Given the description of an element on the screen output the (x, y) to click on. 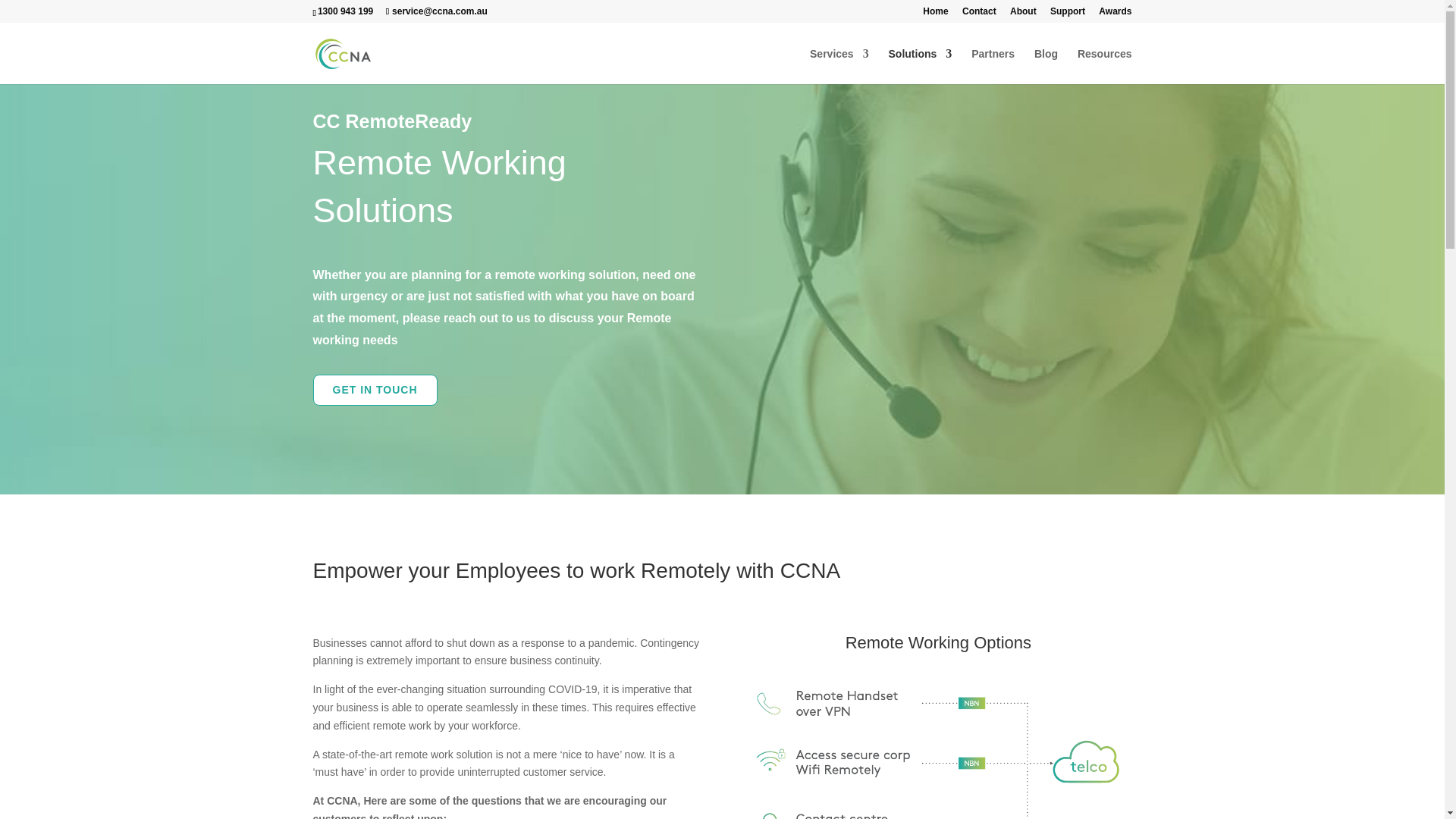
Awards (1115, 14)
Solutions (920, 66)
About (1023, 14)
Services (839, 66)
Resources (1104, 66)
Partners (992, 66)
Home (935, 14)
Support (1066, 14)
Contact (978, 14)
